Given the description of an element on the screen output the (x, y) to click on. 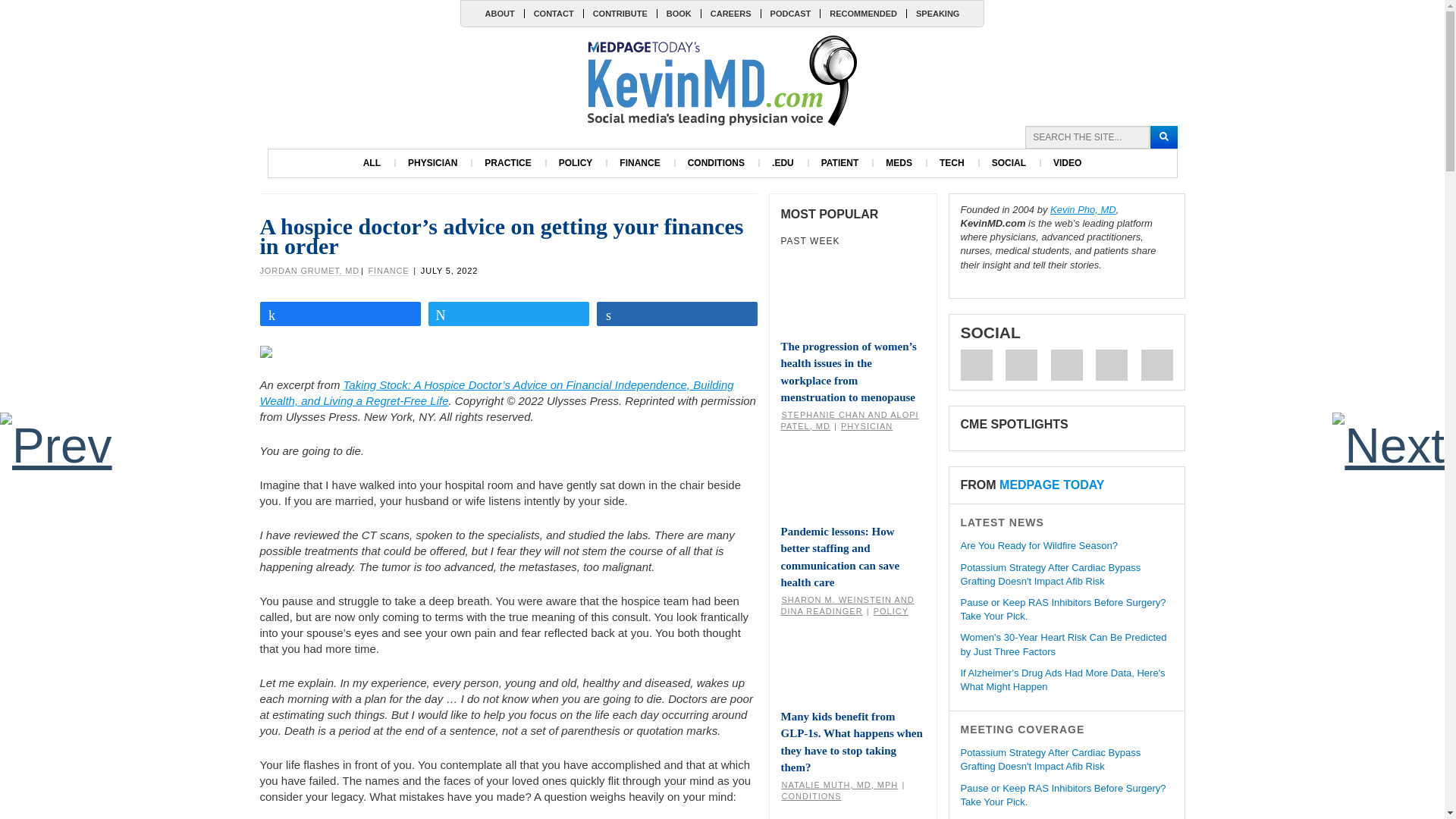
ABOUT (500, 13)
MEDS (899, 163)
CAREERS (730, 13)
CONTRIBUTE (619, 13)
VIDEO (1066, 163)
TECH (952, 163)
SOCIAL (1008, 163)
RECOMMENDED (862, 13)
PRACTICE (507, 163)
PATIENT (840, 163)
